Given the description of an element on the screen output the (x, y) to click on. 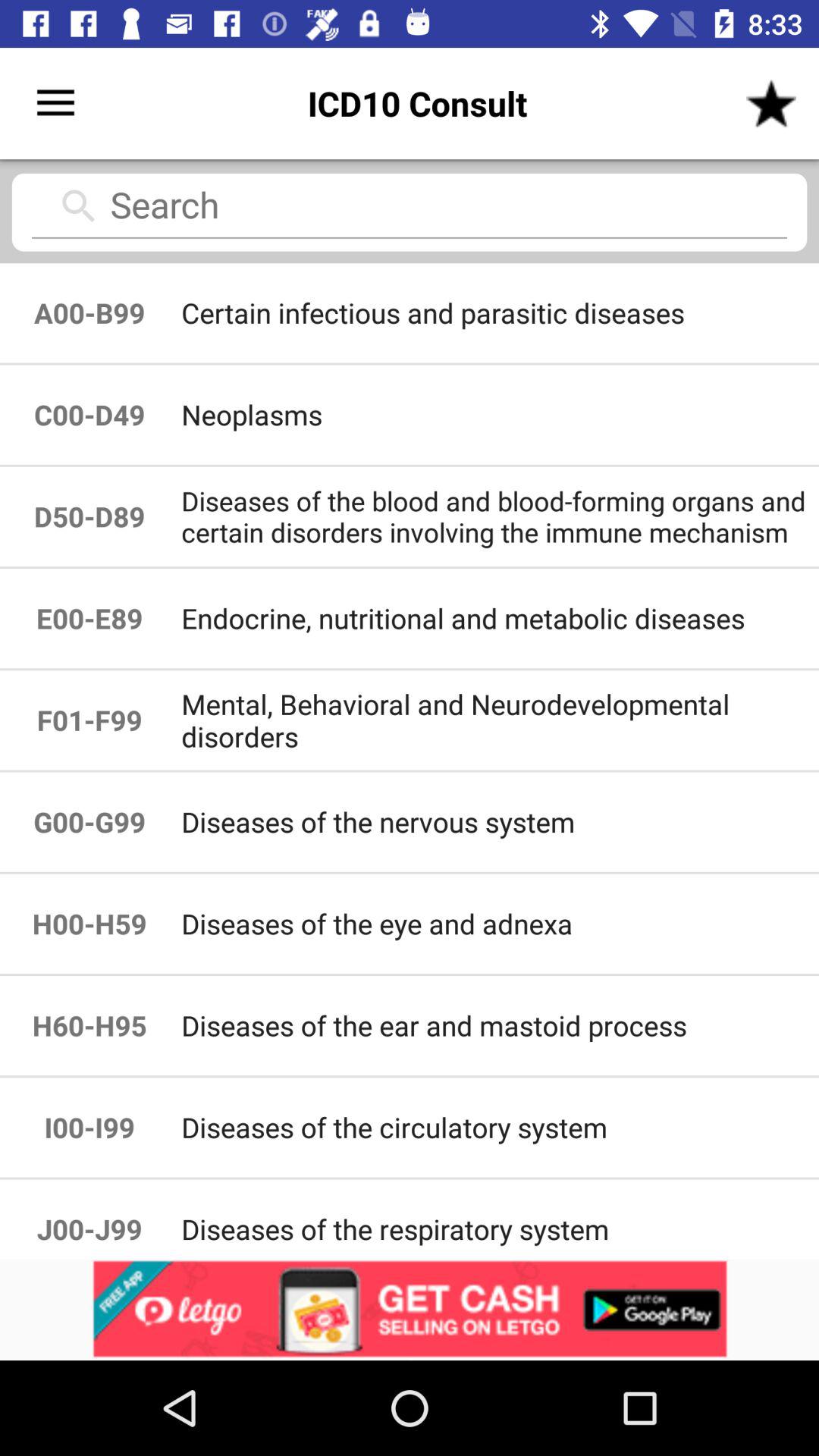
search icd10 codes (409, 211)
